Given the description of an element on the screen output the (x, y) to click on. 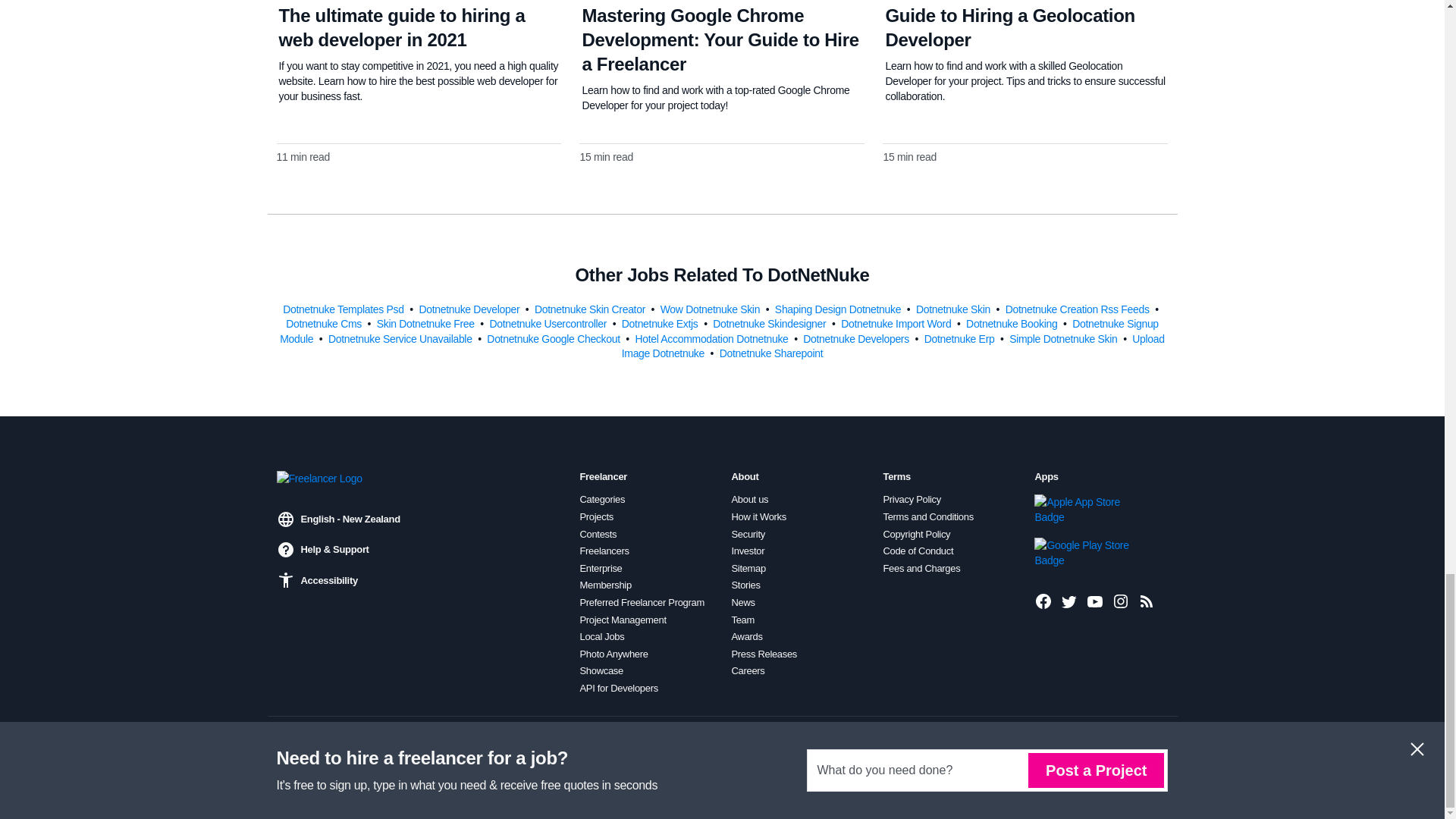
Freelancer on Instagram (1120, 601)
The ultimate guide to hiring a web developer in 2021 (402, 26)
Get it on Google Play (1085, 552)
Freelancer on Facebook (1042, 601)
Guide to Hiring a Geolocation Developer (1009, 26)
Latest Projects (1146, 601)
Freelancer on Youtube (1094, 601)
Dotnetnuke Developer (470, 308)
Freelancer on Twitter (1068, 601)
